Given the description of an element on the screen output the (x, y) to click on. 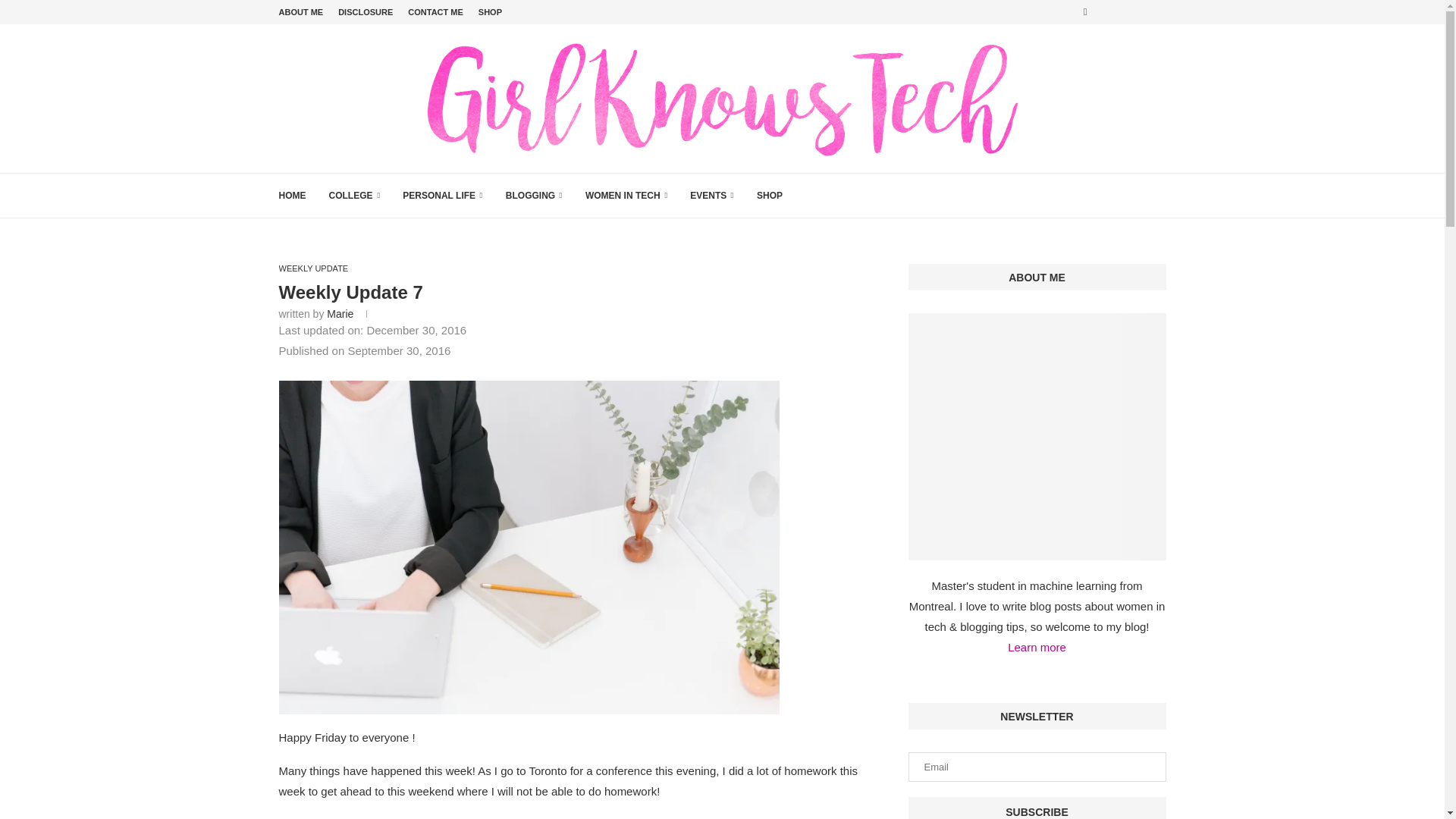
PERSONAL LIFE (443, 195)
ABOUT ME (301, 12)
COLLEGE (354, 195)
CONTACT ME (435, 12)
Subscribe (1037, 807)
SHOP (490, 12)
DISCLOSURE (365, 12)
